Given the description of an element on the screen output the (x, y) to click on. 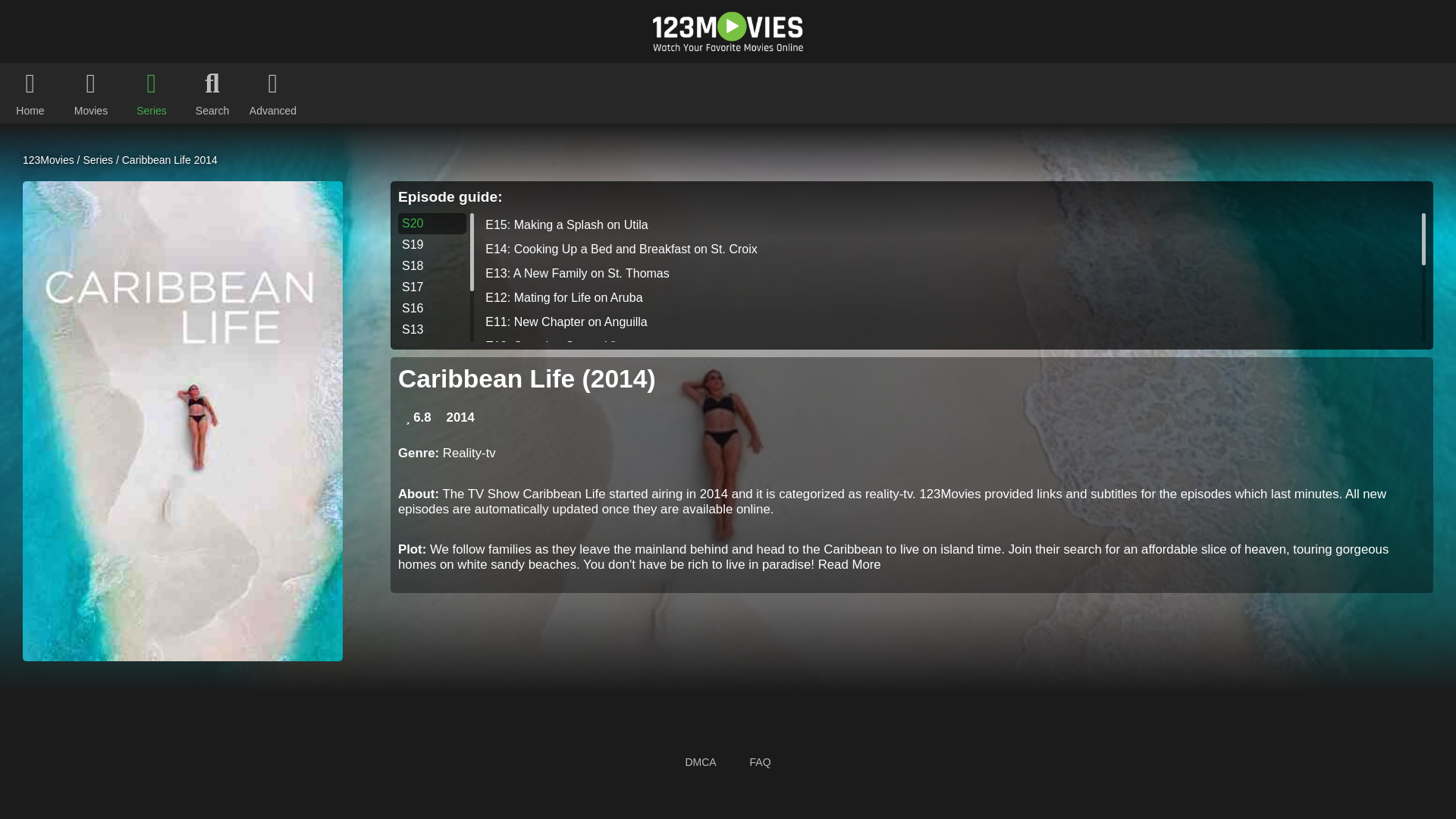
Rating (418, 417)
E14: Cooking Up a Bed and Breakfast on St. Croix (948, 249)
E13: A New Family on St. Thomas (948, 273)
E09: Trading Moguls for Water Skis (948, 370)
E03: Pulling the Trigger on Roatan (948, 467)
E11: New Chapter on Anguilla (948, 322)
123Movies (48, 159)
Series (97, 159)
E06: Family Home to Roatan (948, 395)
E12: Mating for Life on Aruba (948, 297)
